Given the description of an element on the screen output the (x, y) to click on. 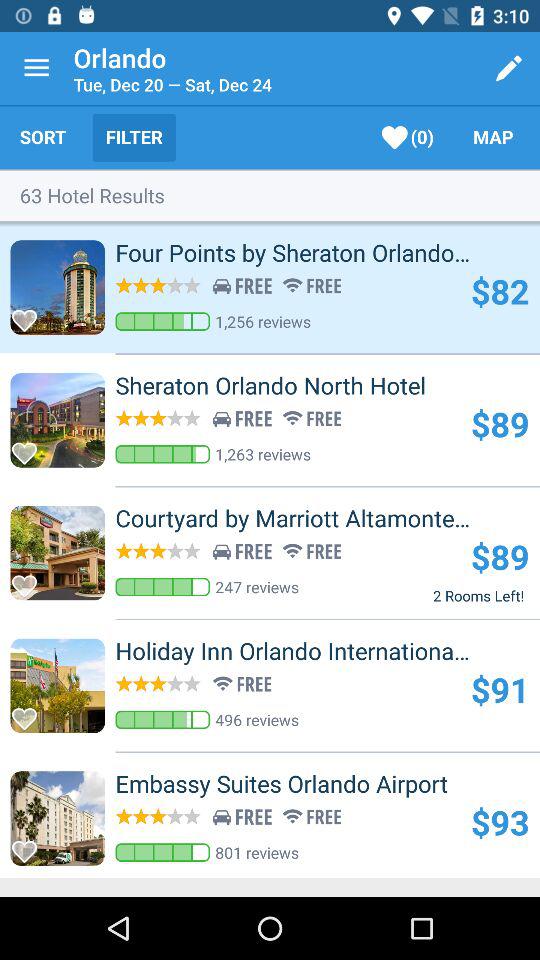
like an option (30, 314)
